Given the description of an element on the screen output the (x, y) to click on. 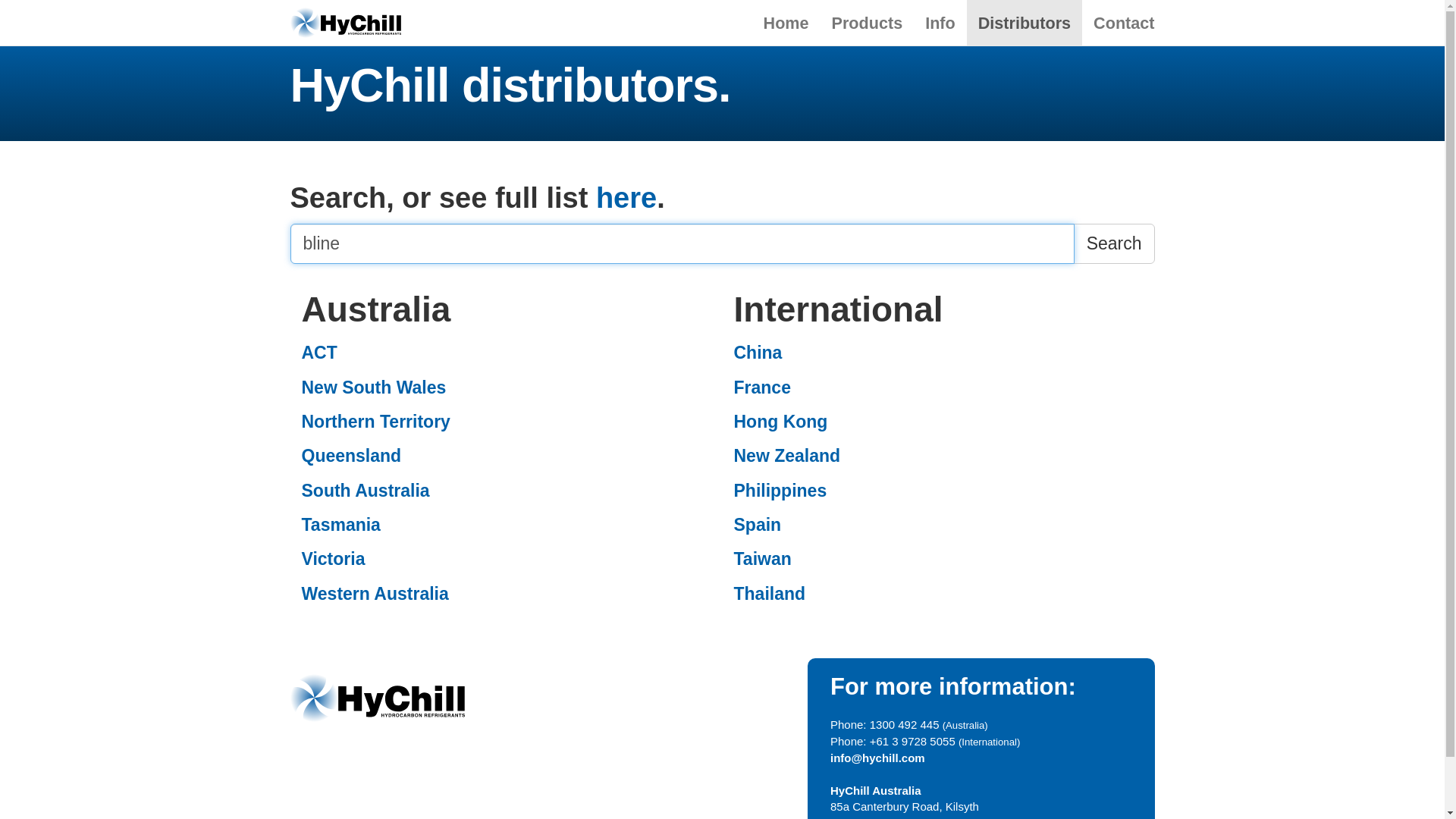
New South Wales Element type: text (506, 387)
Hong Kong Element type: text (938, 421)
Northern Territory Element type: text (506, 421)
China Element type: text (938, 352)
Spain Element type: text (938, 524)
Taiwan Element type: text (938, 558)
Home Element type: text (786, 22)
here Element type: text (626, 197)
South Australia Element type: text (506, 490)
France Element type: text (938, 387)
Products Element type: text (867, 22)
Tasmania Element type: text (506, 524)
New Zealand Element type: text (938, 455)
Distributors Element type: text (1024, 22)
Info Element type: text (939, 22)
Contact Element type: text (1123, 22)
Philippines Element type: text (938, 490)
Western Australia Element type: text (506, 593)
Thailand Element type: text (938, 593)
Queensland Element type: text (506, 455)
info@hychill.com Element type: text (877, 757)
Victoria Element type: text (506, 558)
ACT Element type: text (506, 352)
Search Element type: text (1113, 243)
